Given the description of an element on the screen output the (x, y) to click on. 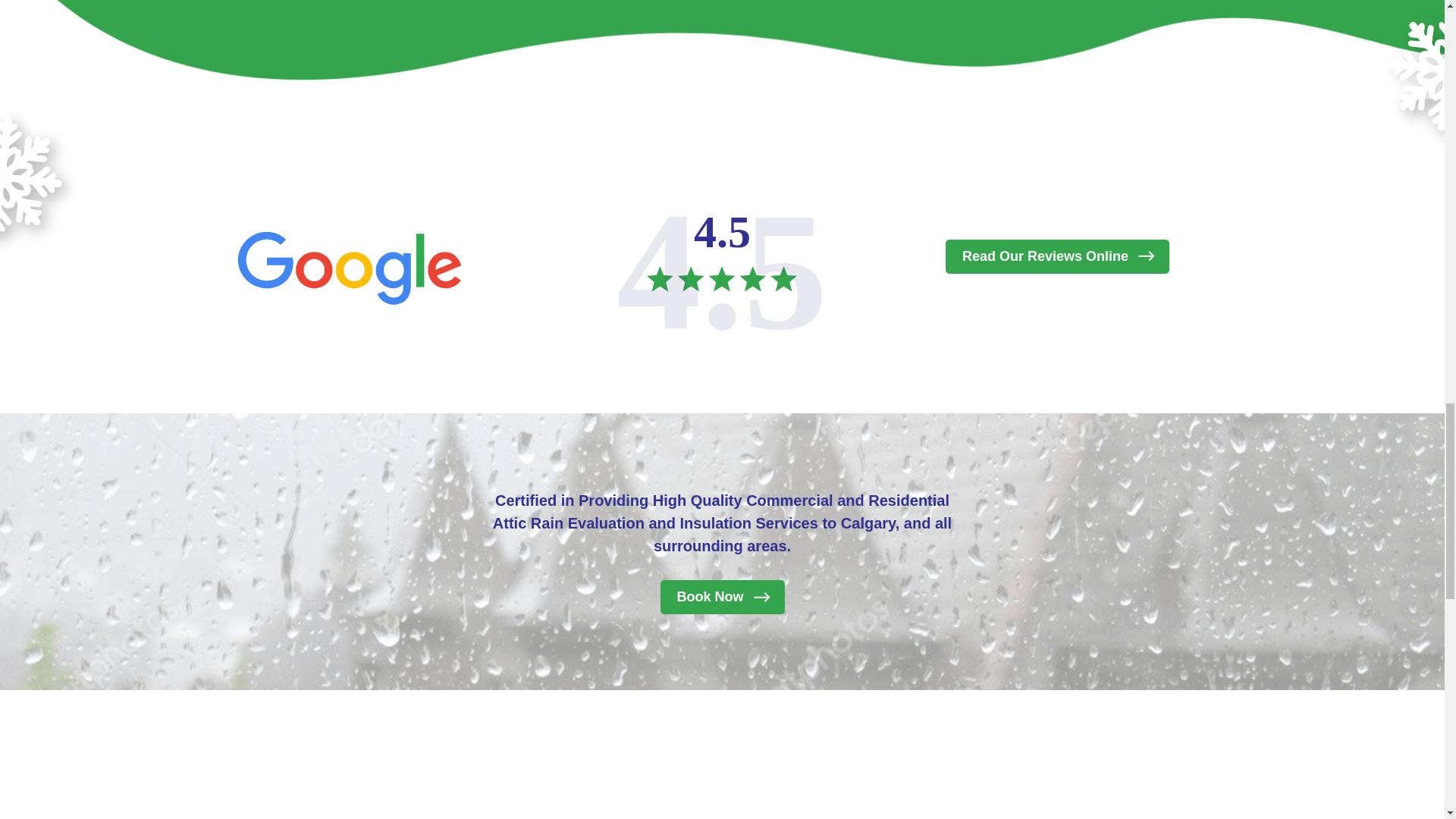
Image 58 (348, 265)
Group 1901 (721, 278)
Read Our Reviews Online (1056, 256)
